Given the description of an element on the screen output the (x, y) to click on. 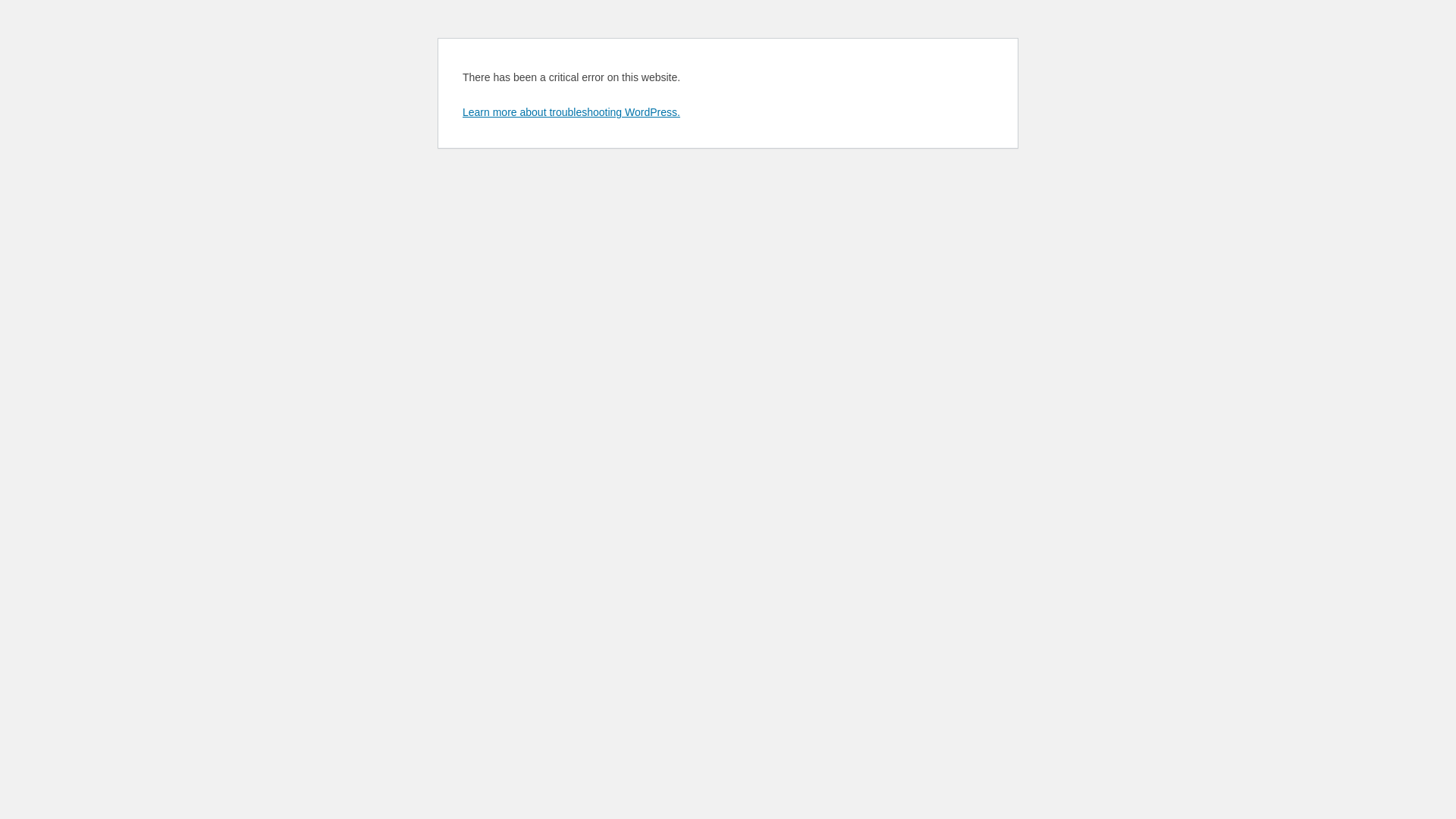
Learn more about troubleshooting WordPress. Element type: text (571, 112)
